Given the description of an element on the screen output the (x, y) to click on. 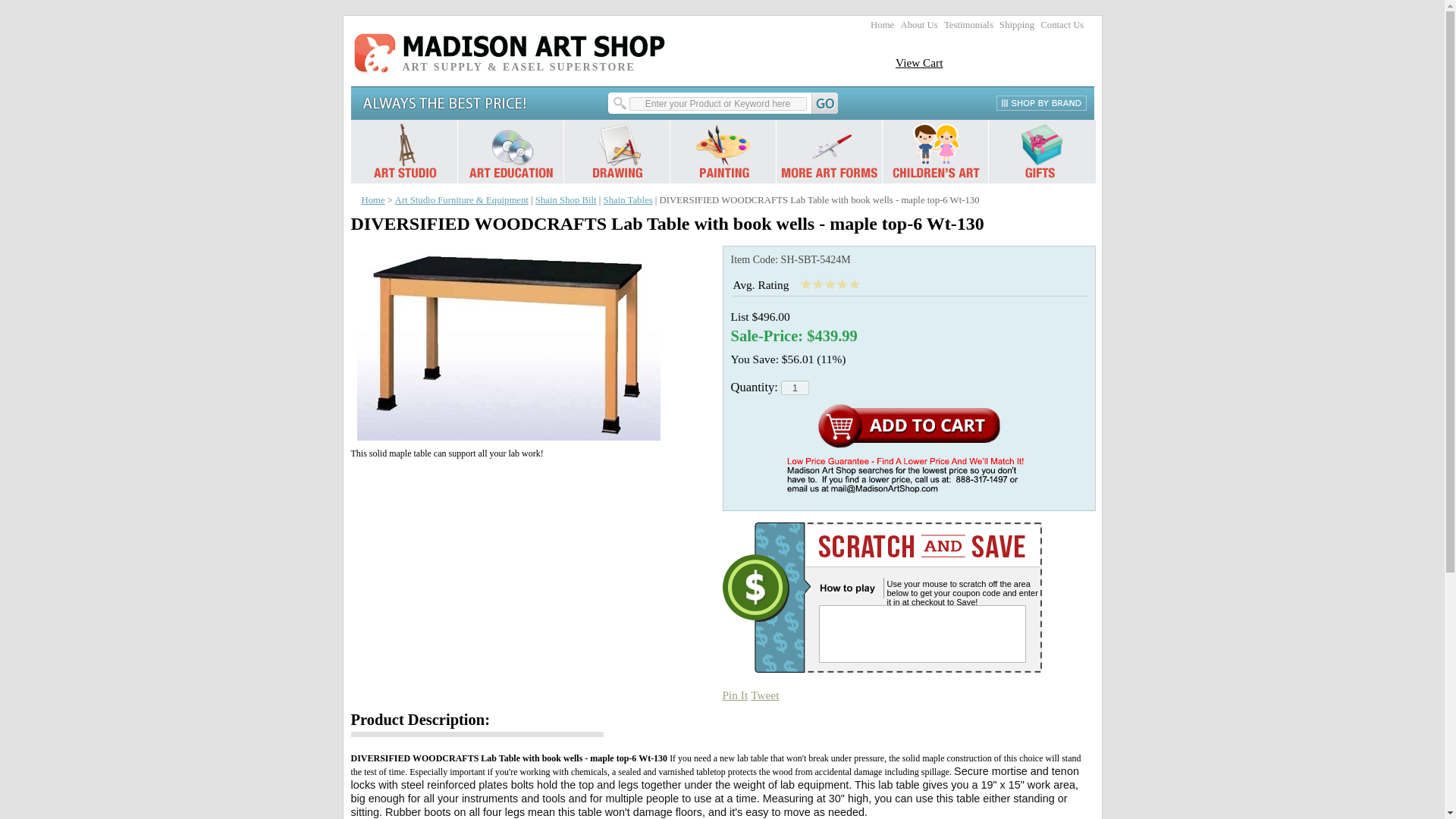
About Us (918, 24)
Shipping (1015, 24)
Enter your Product or Keyword here (717, 103)
Contact Us (1062, 24)
Add to cart (908, 425)
View Cart (919, 62)
Testimonials (967, 24)
1 (794, 387)
Search (725, 102)
Home (881, 24)
